Given the description of an element on the screen output the (x, y) to click on. 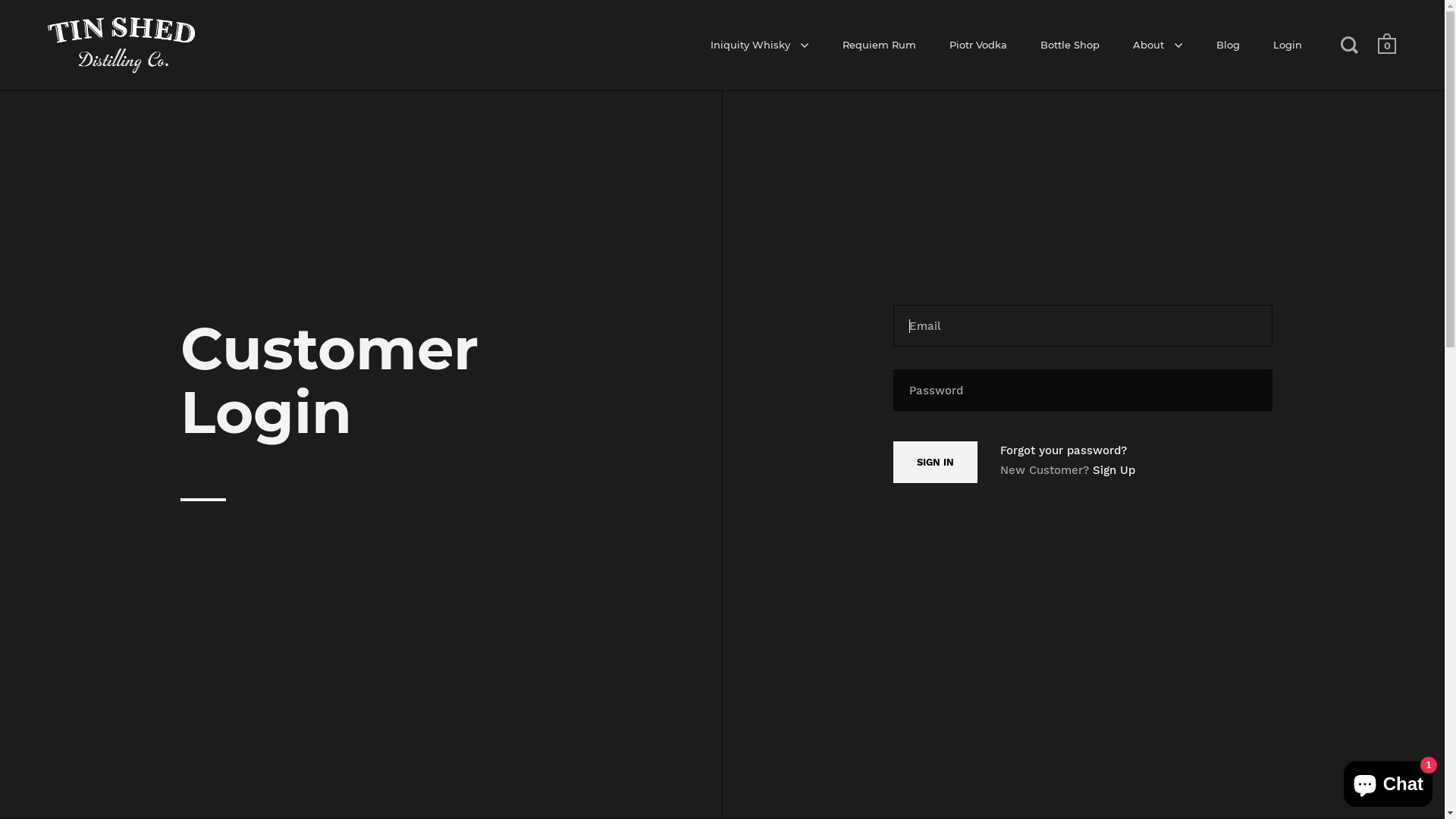
Bottle Shop Element type: text (1069, 44)
0 Element type: text (1386, 46)
Login Element type: text (1287, 44)
About Element type: text (1157, 44)
Open search Element type: hover (1350, 44)
Requiem Rum Element type: text (879, 44)
Sign In Element type: text (935, 462)
Forgot your password? Element type: text (1063, 450)
Sign Up Element type: text (1113, 469)
Piotr Vodka Element type: text (978, 44)
Shopify online store chat Element type: hover (1388, 780)
Sign up Element type: text (988, 581)
Iniquity Whisky Element type: text (759, 44)
Blog Element type: text (1228, 44)
